Given the description of an element on the screen output the (x, y) to click on. 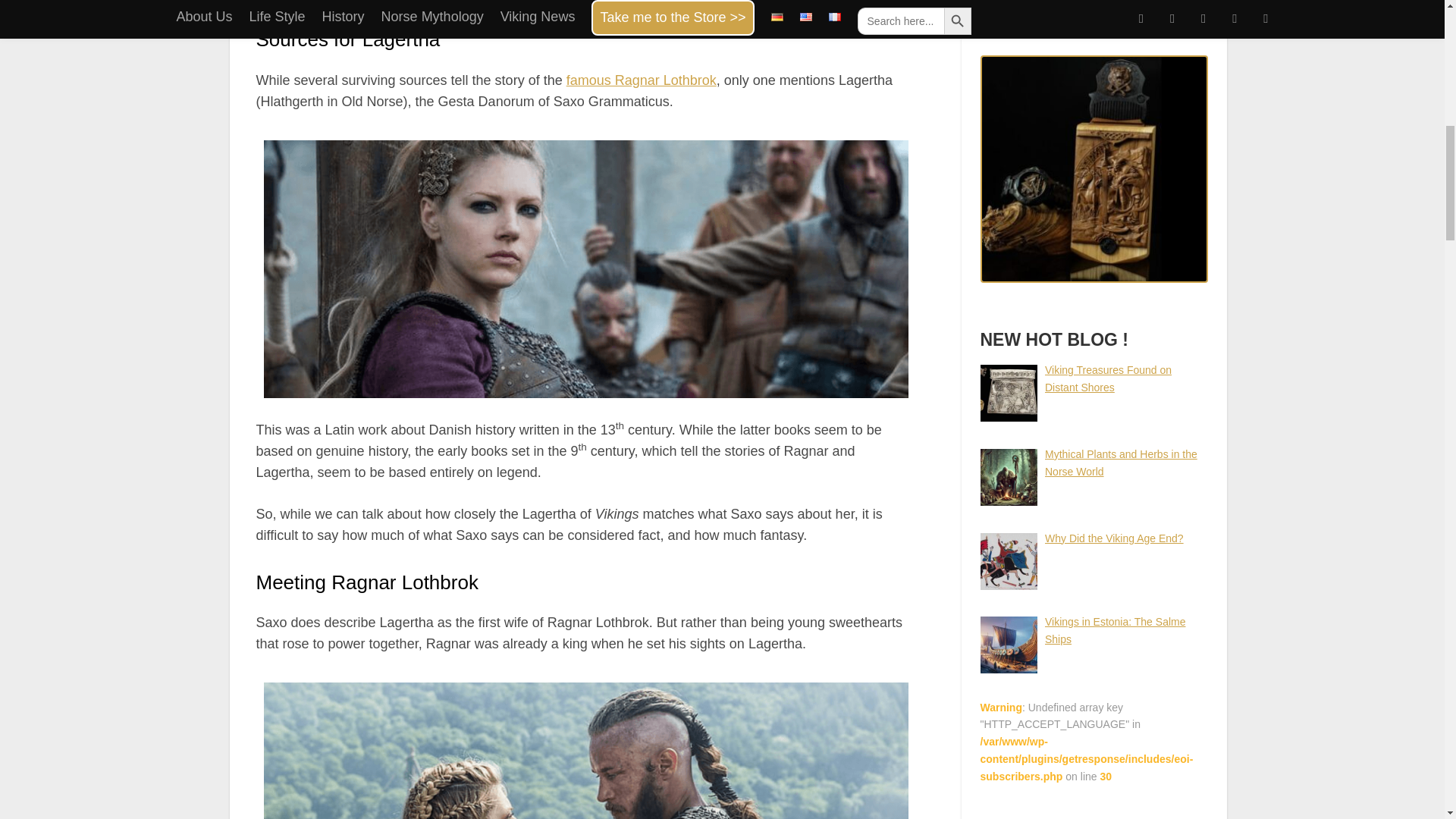
famous Ragnar Lothbrok (641, 79)
Mythical Plants and Herbs in the Norse World (1120, 462)
Vikings in Estonia: The Salme Ships (1115, 630)
Why Did the Viking Age End? (1114, 538)
Viking Treasures Found on Distant Shores (1108, 378)
